Given the description of an element on the screen output the (x, y) to click on. 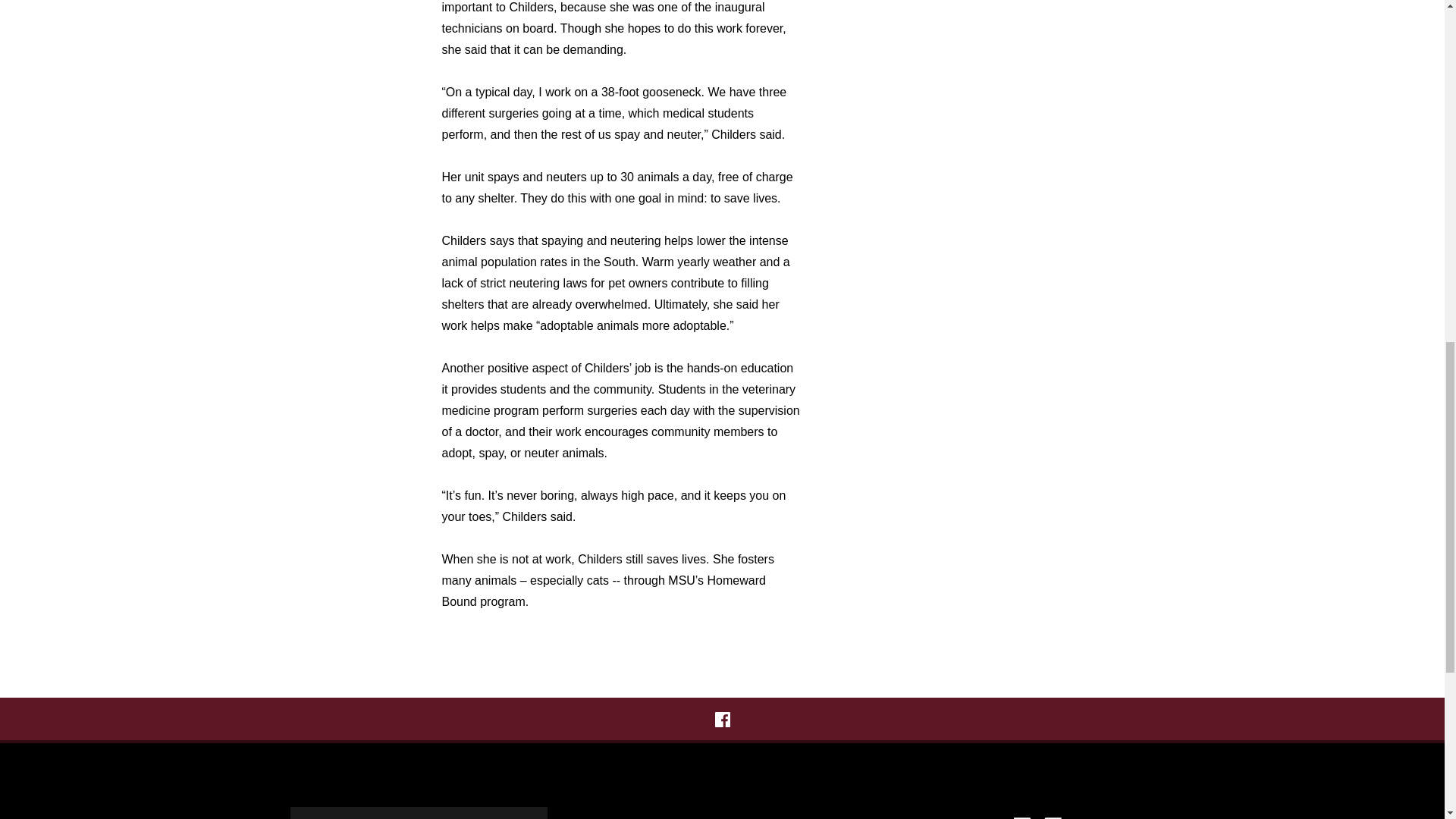
Mississippi State University (1037, 812)
Find DAFVM on Facebook (721, 719)
